Given the description of an element on the screen output the (x, y) to click on. 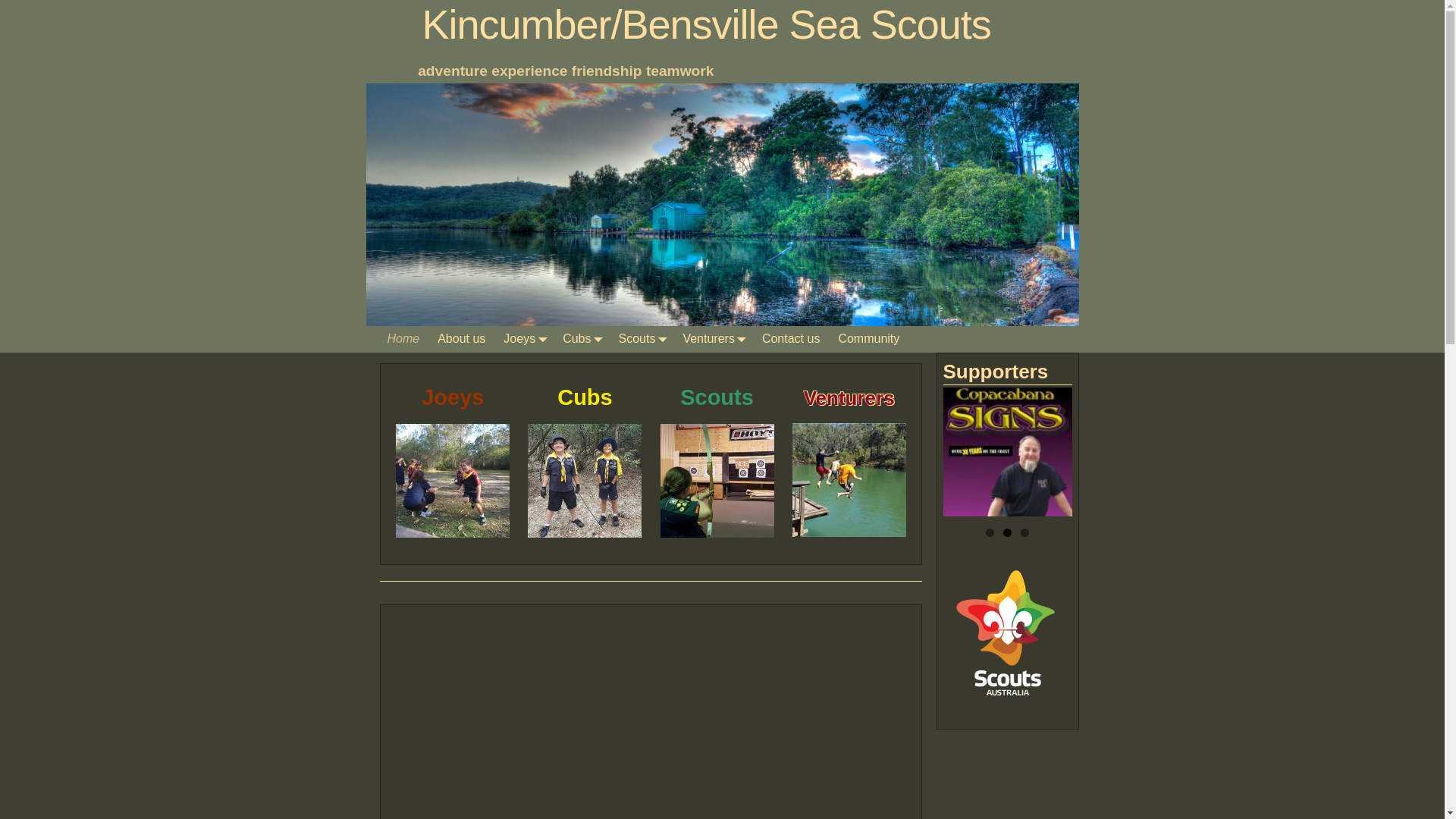
1 Element type: text (989, 532)
Kincumber/Bensville Sea Scouts Element type: text (706, 24)
About us Element type: text (461, 339)
Joeys Element type: text (452, 397)
Copa signs Element type: hover (1007, 451)
Venturers Element type: text (848, 397)
Venturers Element type: text (712, 339)
2 Element type: text (1007, 532)
Community Element type: text (868, 339)
Contact us Element type: text (790, 339)
Scouts Element type: text (716, 397)
3 Element type: text (1024, 532)
Cubs Element type: text (584, 397)
Home Element type: text (402, 339)
Scouts Element type: text (641, 339)
Joeys Element type: text (523, 339)
Cubs Element type: text (580, 339)
